Given the description of an element on the screen output the (x, y) to click on. 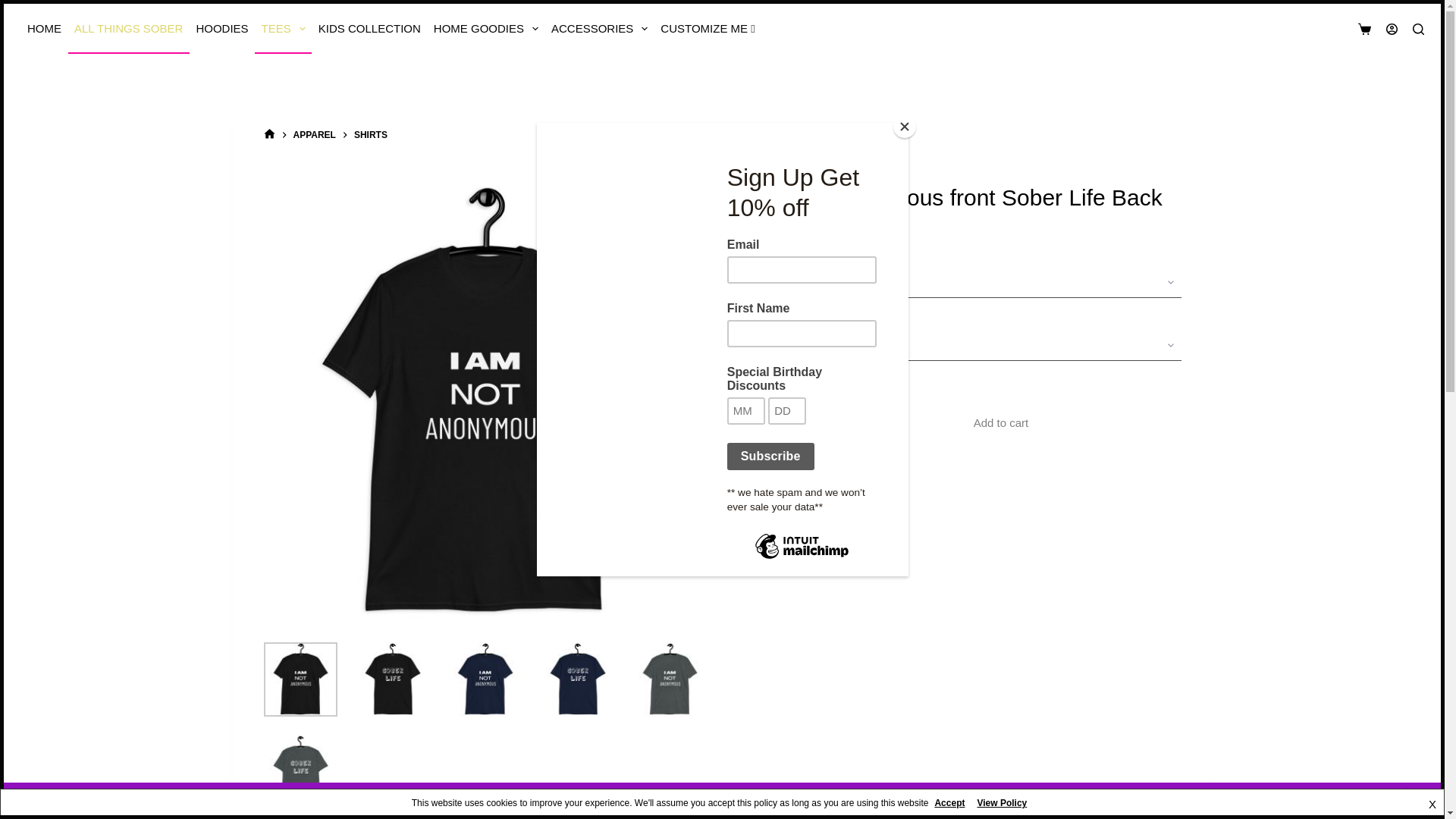
unisex-basic-softstyle-t-shirt-navy-back-62d093b050fb5.jpg (577, 679)
Skip to content (15, 7)
unisex-basic-softstyle-t-shirt-black-front-62d093b04b44b.jpg (300, 679)
ALL THINGS SOBER (128, 29)
unisex-basic-softstyle-t-shirt-navy-front-62d093b0507f0.jpg (485, 679)
HOME (44, 29)
HOODIES (221, 29)
PayPal Message 1 (958, 452)
Shop (44, 29)
TEES (282, 29)
1 (774, 422)
Dismiss (1406, 798)
unisex-basic-softstyle-t-shirt-black-back-62d093b0502ee.jpg (392, 679)
